Given the description of an element on the screen output the (x, y) to click on. 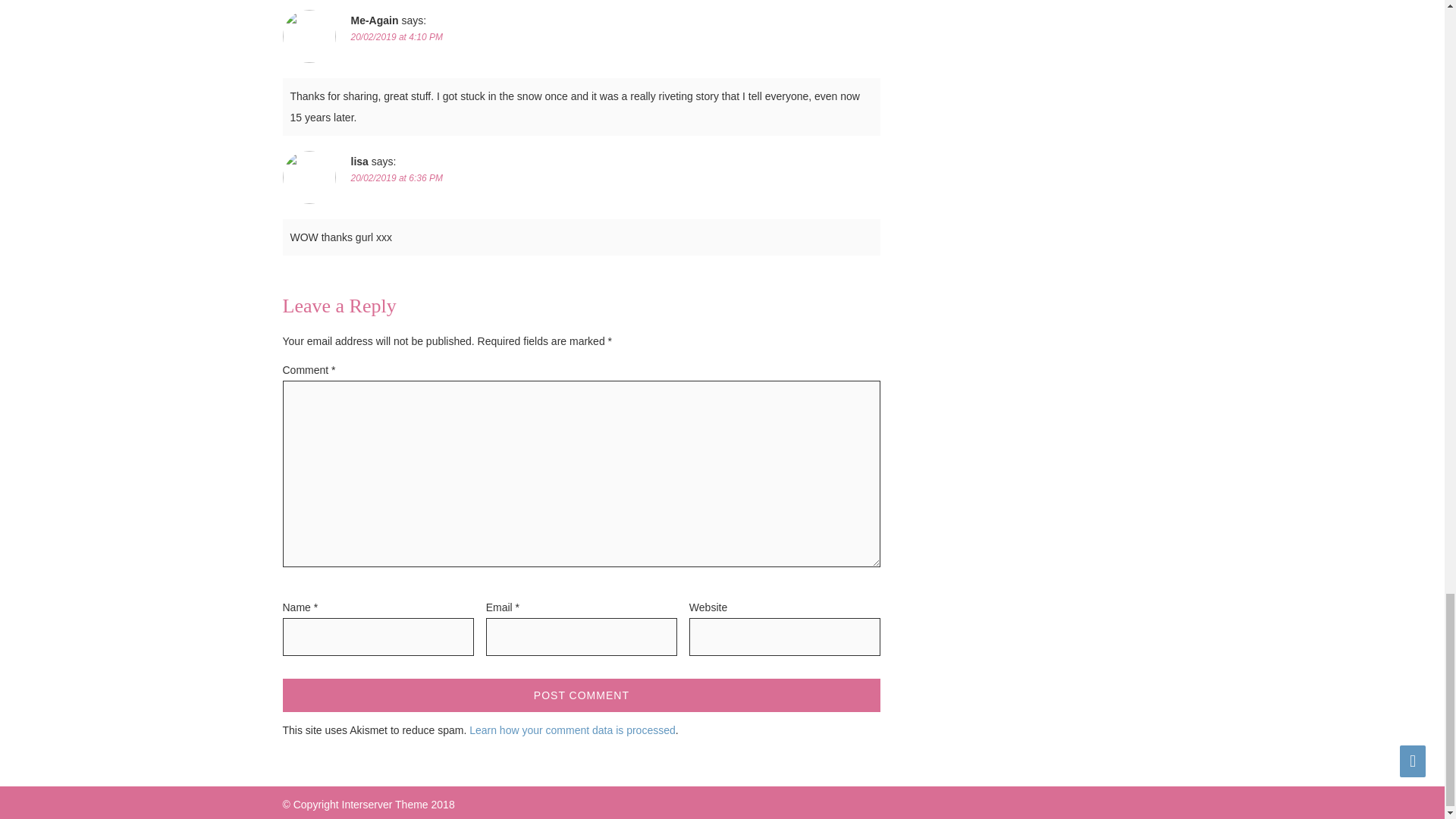
Post Comment (581, 694)
Learn how your comment data is processed (571, 729)
Post Comment (581, 694)
